Given the description of an element on the screen output the (x, y) to click on. 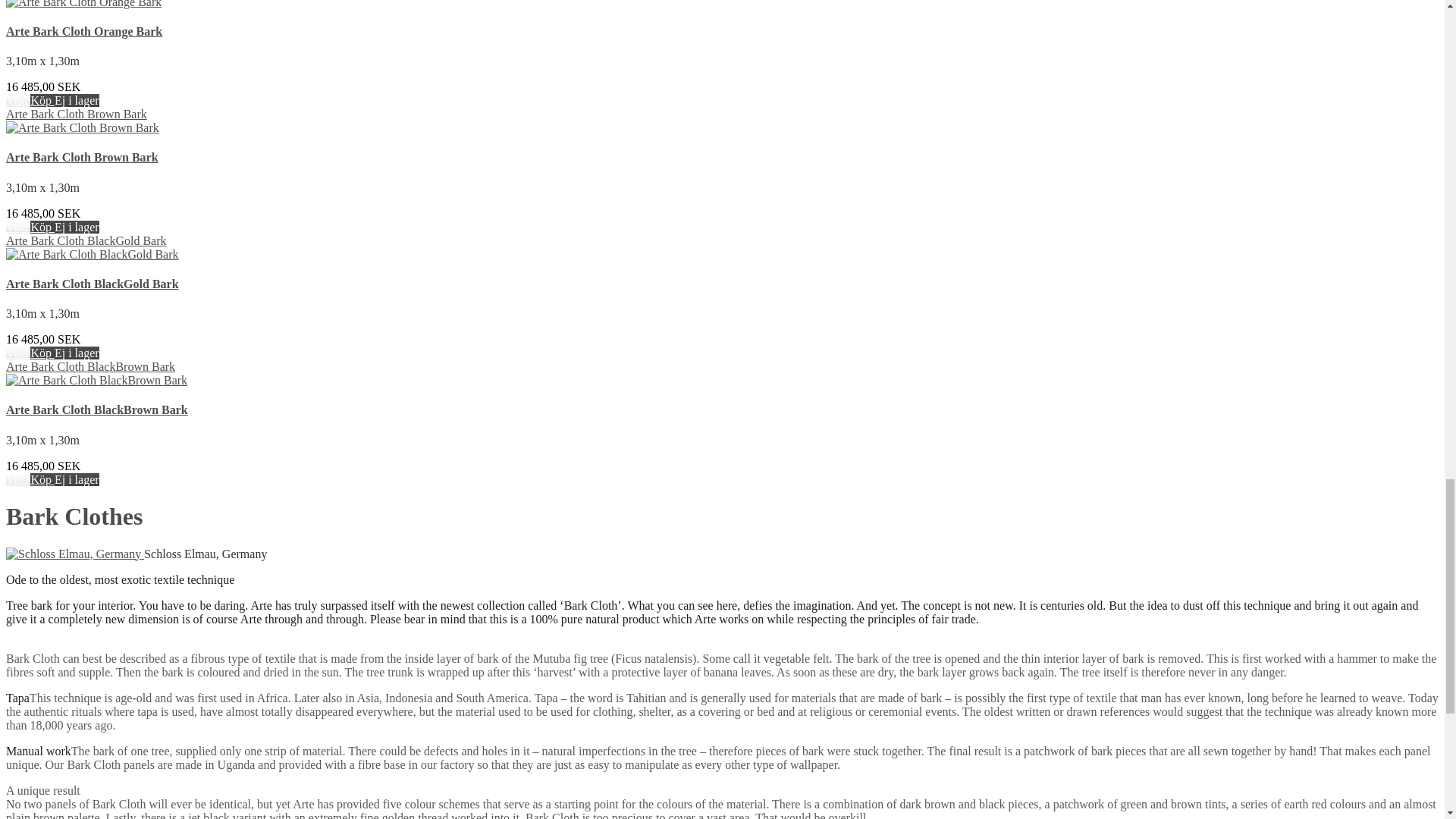
Arte Bark Cloth BlackBrown Bark (89, 366)
Arte Bark Cloth Brown Bark (81, 127)
Arte Bark Cloth Orange Bark (83, 31)
Arte Bark Cloth BlackGold Bark (92, 254)
Arte Bark Cloth Orange Bark (83, 4)
Arte Bark Cloth BlackGold Bark (92, 283)
Arte Bark Cloth Brown Bark (76, 113)
Arte Bark Cloth BlackBrown Bark (96, 379)
Arte Bark Cloth BlackBrown Bark (96, 409)
Arte Bark Cloth BlackGold Bark (86, 240)
Schloss Elmau, Germany (73, 554)
Arte Bark Cloth Brown Bark (81, 156)
